Given the description of an element on the screen output the (x, y) to click on. 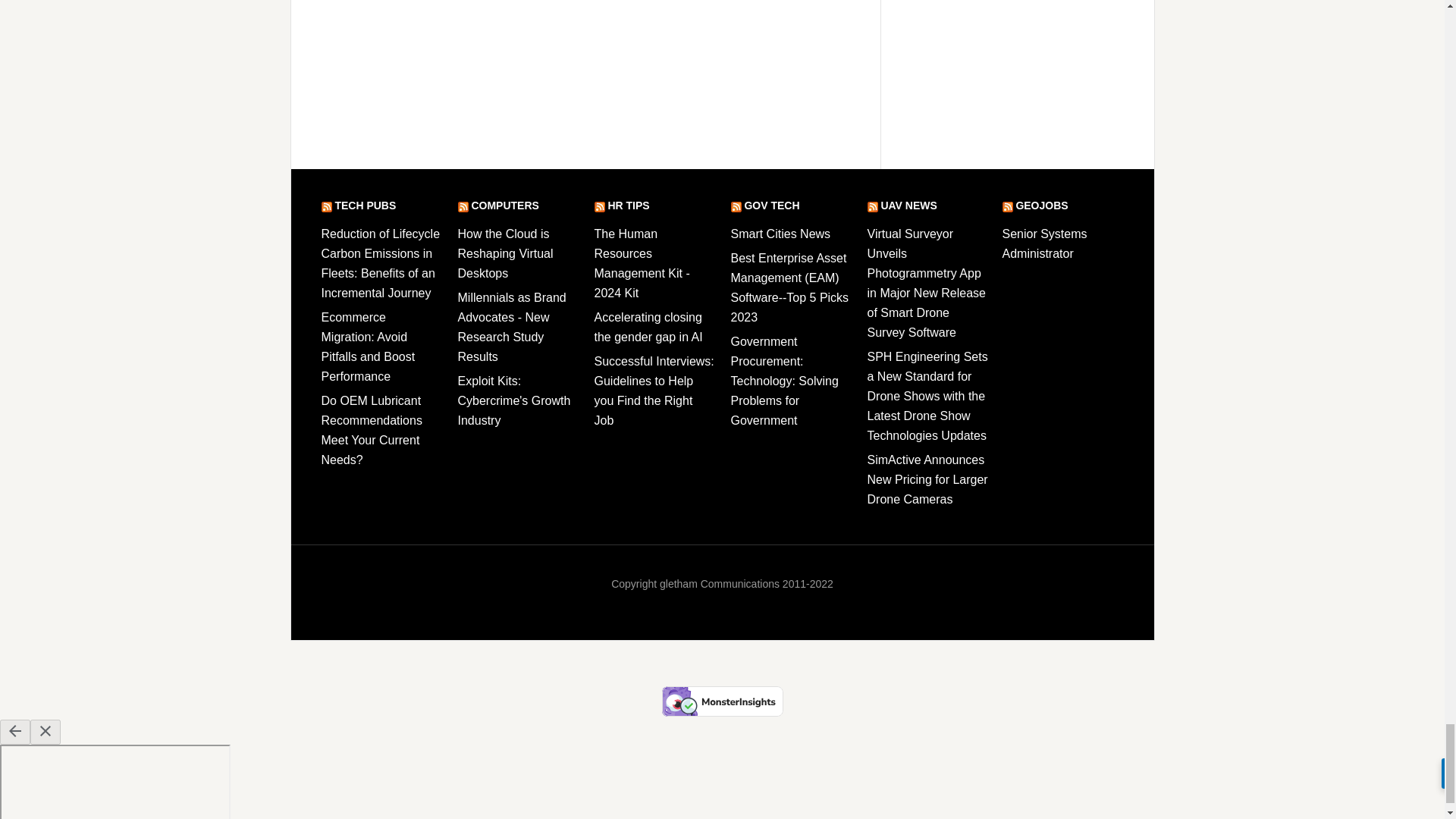
Verified by MonsterInsights (722, 701)
3rd party ad content (582, 74)
